Given the description of an element on the screen output the (x, y) to click on. 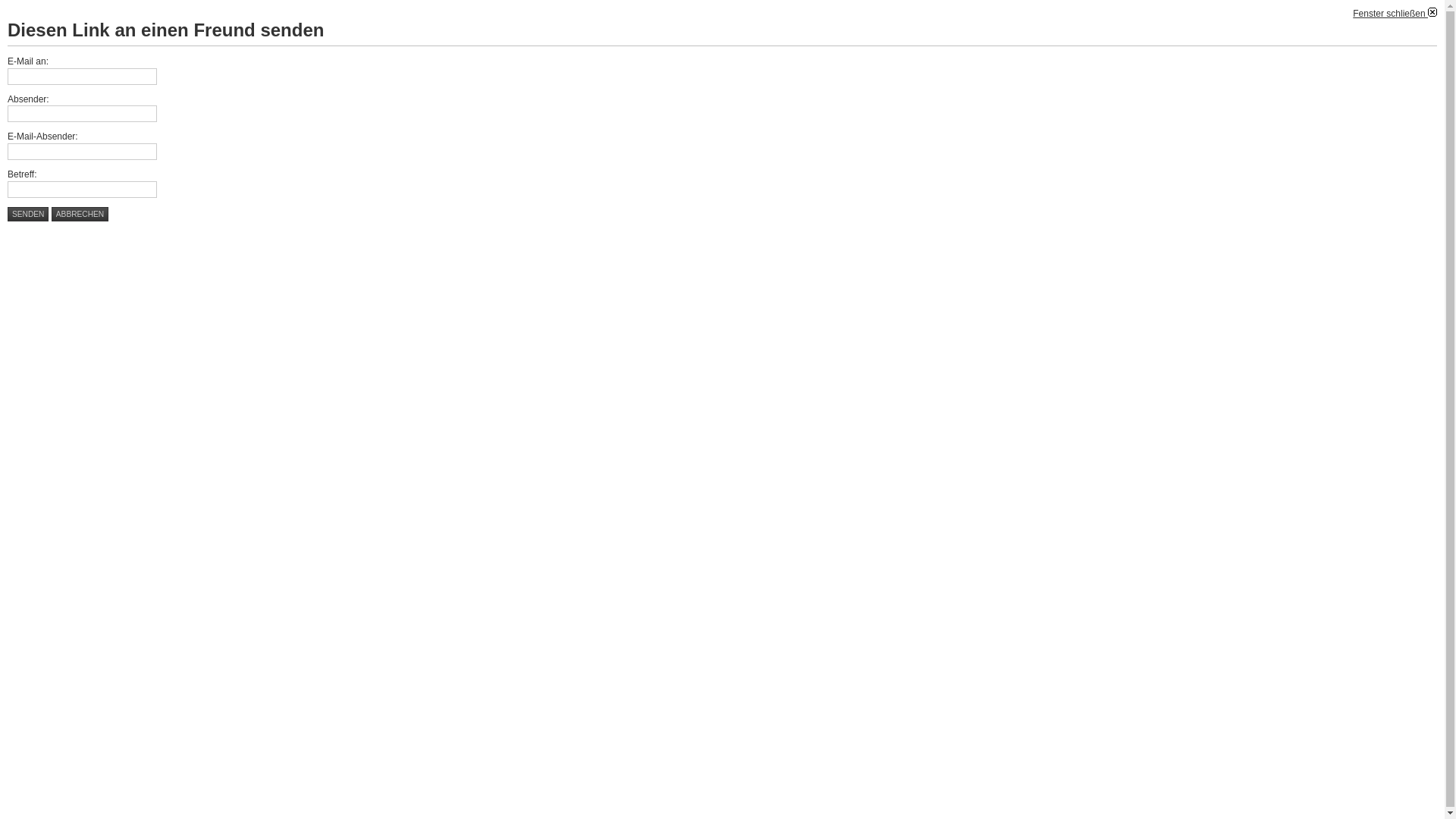
SENDEN Element type: text (27, 214)
ABBRECHEN Element type: text (79, 214)
